Given the description of an element on the screen output the (x, y) to click on. 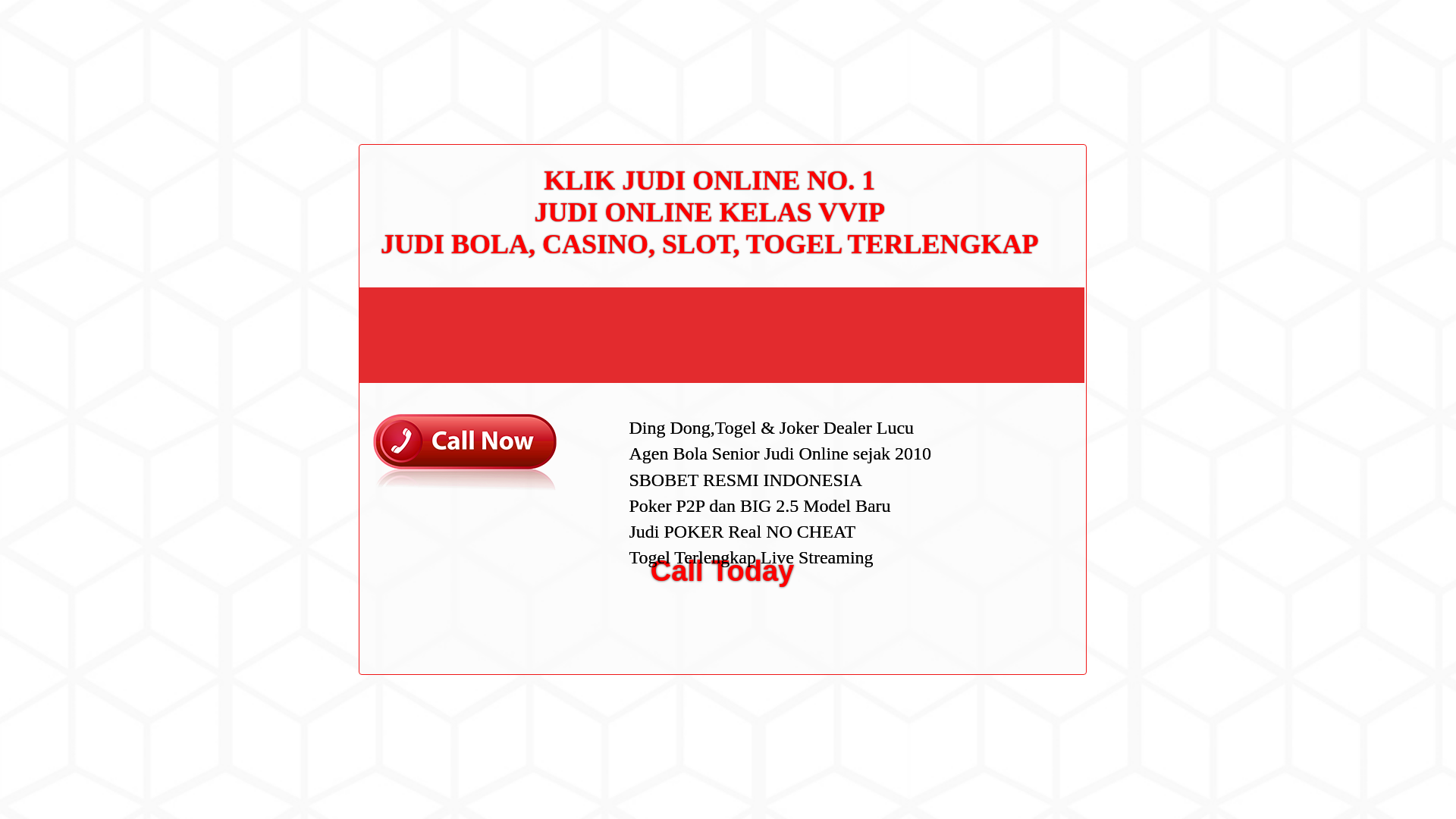
Search (1050, 85)
Blog (976, 510)
Log in (980, 588)
DMCA Policy (996, 282)
KANONSPORTS.COM (403, 28)
Disclaimer (990, 354)
Search (1050, 85)
RSS (977, 612)
Terms of Use (996, 330)
Contact Us (991, 258)
ADMINISTRATOR (417, 81)
Privacy Policy (999, 306)
Latest Article (996, 172)
Skip to content (34, 9)
Search for: (1049, 47)
